Given the description of an element on the screen output the (x, y) to click on. 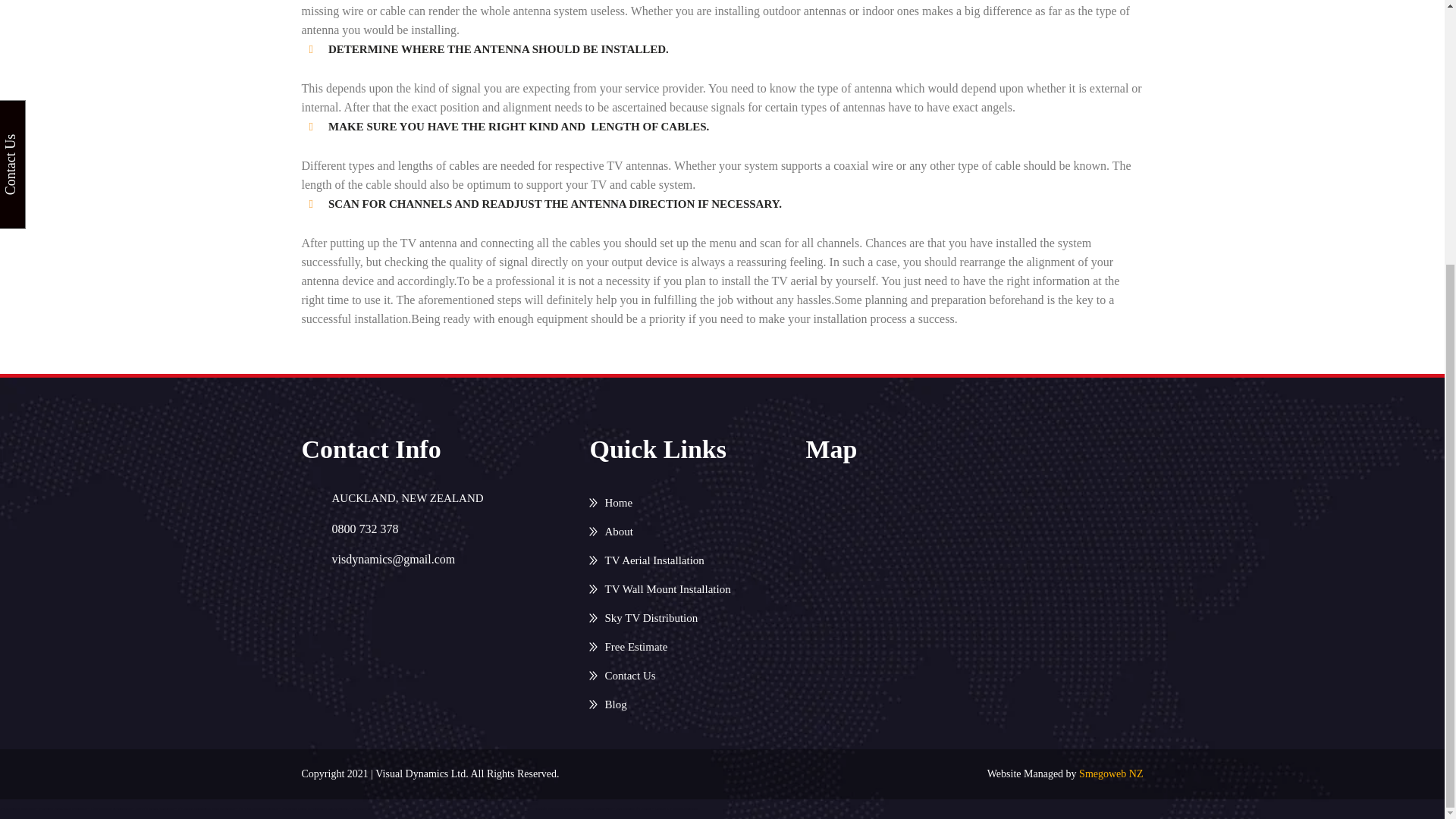
Sky TV Distribution (643, 617)
Smegoweb NZ (1110, 773)
0800 732 378 (364, 528)
Free Estimate (627, 646)
Blog (607, 704)
Contact Us (622, 675)
About (611, 531)
TV Wall Mount Installation (659, 589)
Home (610, 502)
TV Aerial Installation (646, 560)
